Given the description of an element on the screen output the (x, y) to click on. 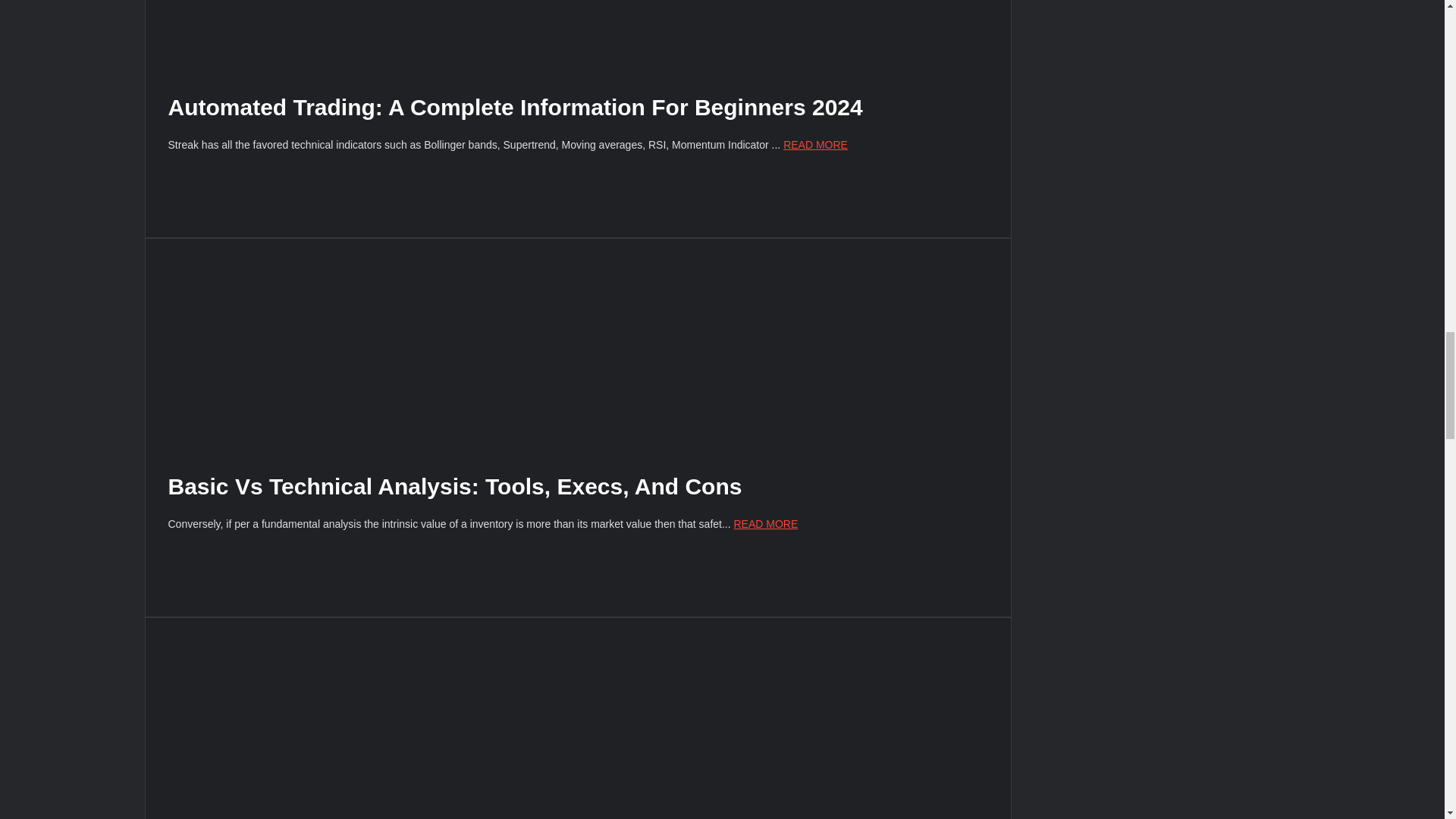
Automated Trading: A Complete Information For Beginners 2024 (515, 107)
READ MORE (815, 144)
READ MORE (765, 523)
Basic Vs Technical Analysis: Tools, Execs, And Cons (455, 486)
